Given the description of an element on the screen output the (x, y) to click on. 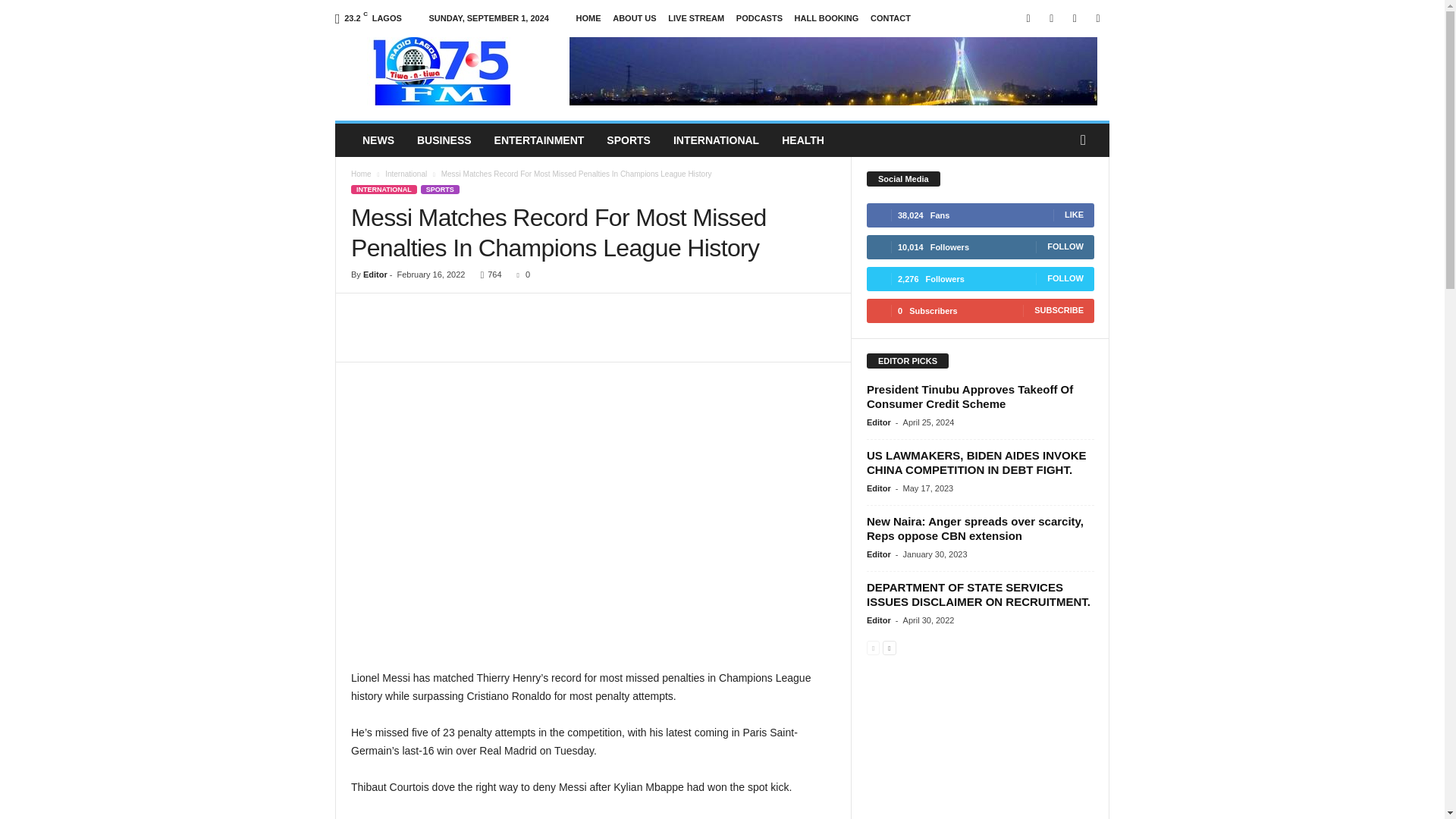
Radio Lagos 107.5FM (437, 70)
HALL BOOKING (826, 17)
CONTACT (890, 17)
LIVE STREAM (695, 17)
NEWS (378, 140)
ABOUT US (634, 17)
PODCASTS (759, 17)
HOME (588, 17)
BUSINESS (444, 140)
